Given the description of an element on the screen output the (x, y) to click on. 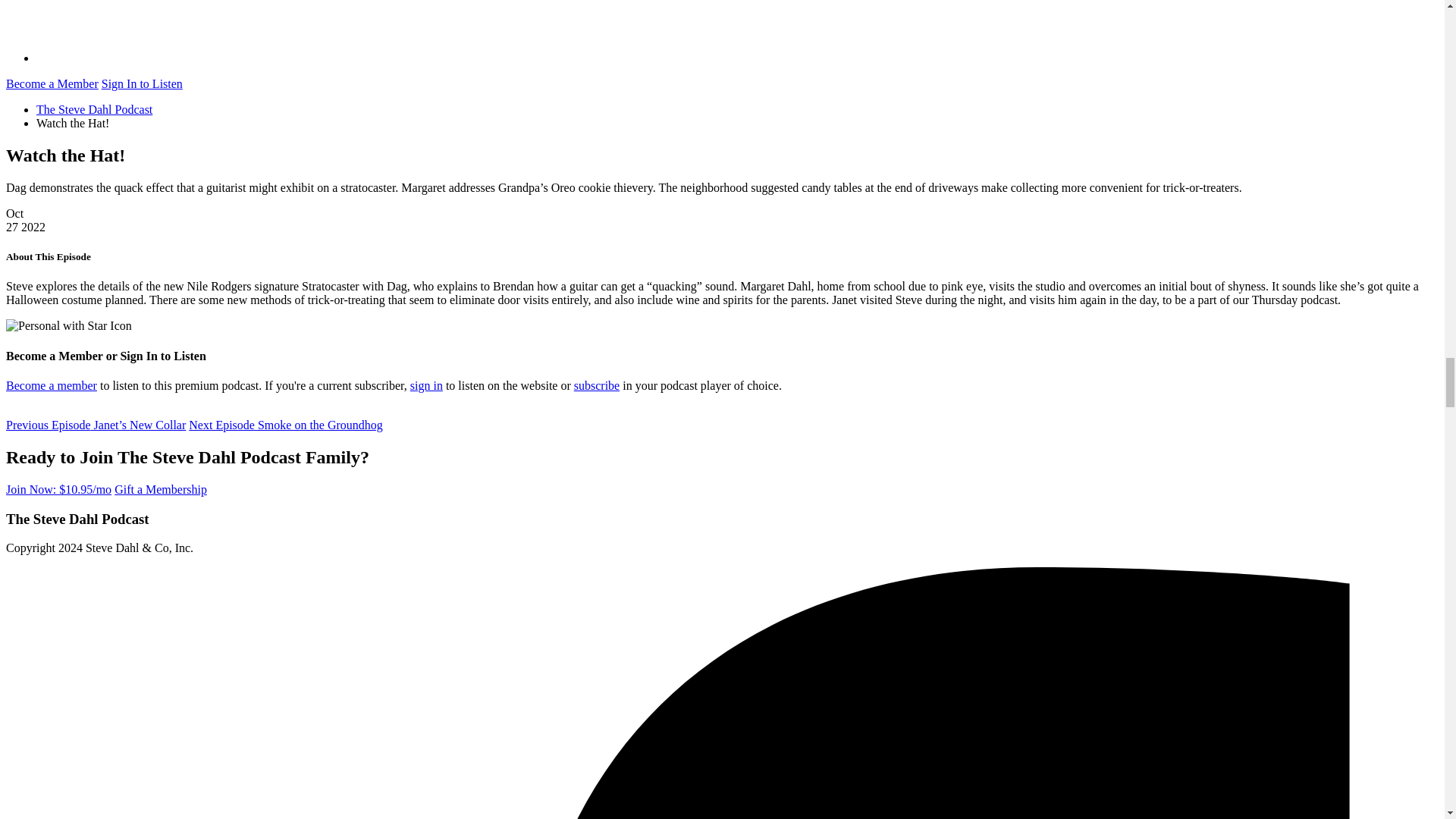
Become a member (51, 385)
sign in (426, 385)
Next Episode Smoke on the Groundhog (285, 424)
subscribe (596, 385)
Gift a Membership (160, 489)
Sign In to Listen (142, 83)
The Steve Dahl Podcast (94, 109)
Become a Member (52, 83)
